Given the description of an element on the screen output the (x, y) to click on. 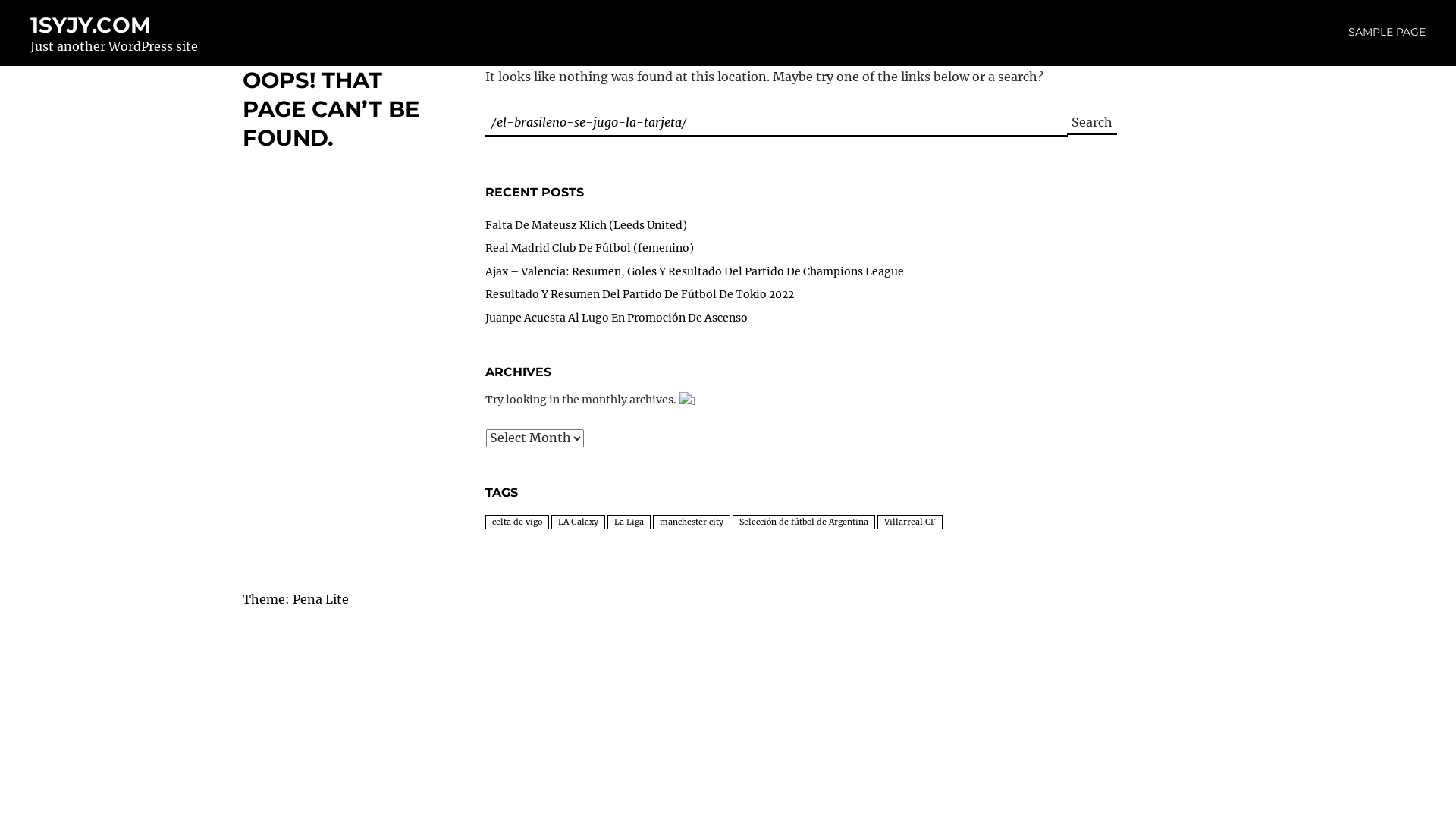
LA Galaxy Element type: text (578, 521)
Villarreal CF Element type: text (909, 521)
Theme: Pena Lite Element type: text (295, 598)
Falta De Mateusz Klich (Leeds United) Element type: text (586, 225)
manchester city Element type: text (691, 521)
celta de vigo Element type: text (517, 521)
1SYJY.COM Element type: text (90, 24)
Search Element type: text (1091, 122)
La Liga Element type: text (628, 521)
SAMPLE PAGE Element type: text (1386, 31)
